Given the description of an element on the screen output the (x, y) to click on. 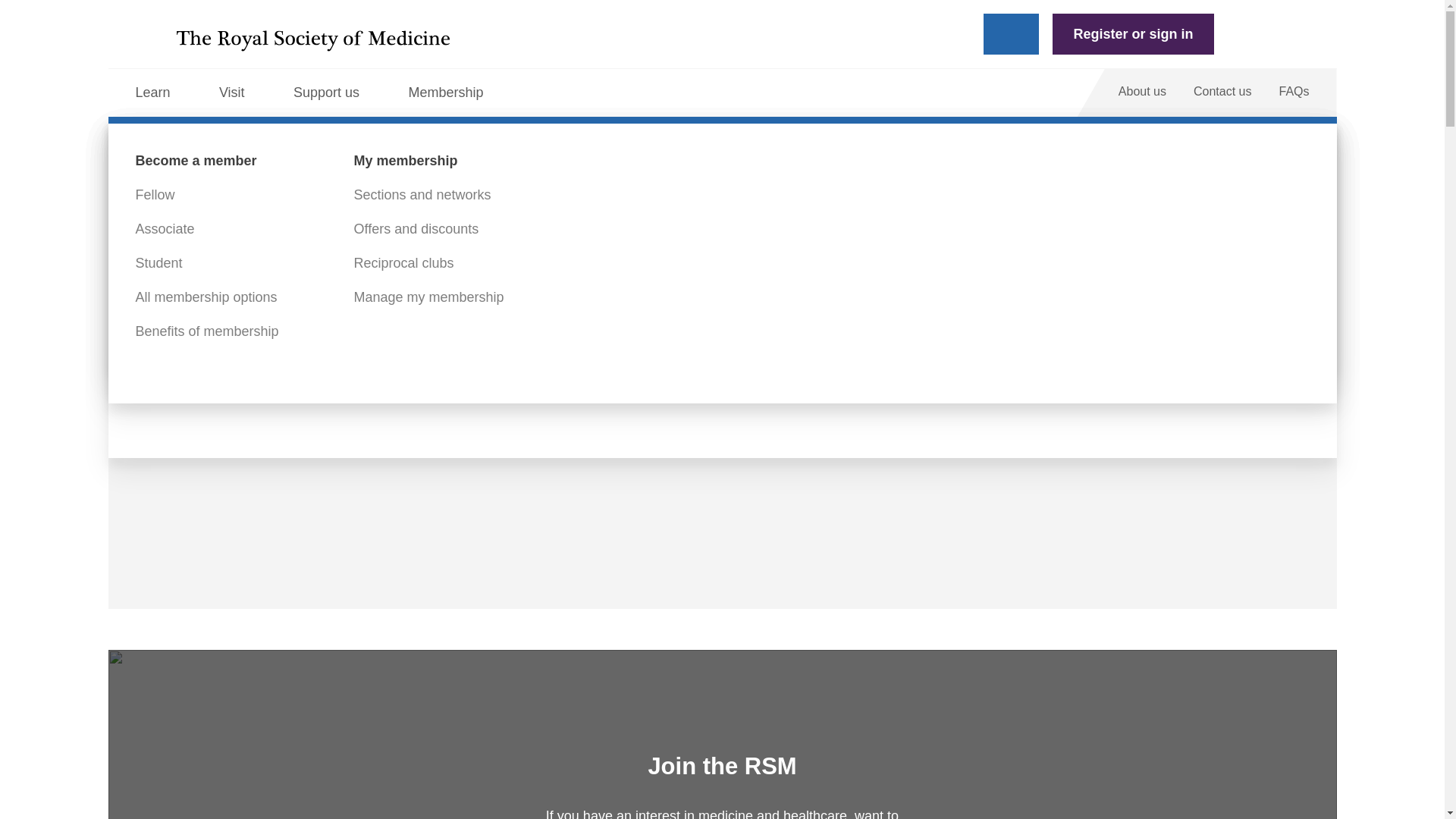
Event highlights (183, 195)
Access Library search hub (433, 263)
Literature search service (427, 331)
Register or sign in (1132, 33)
For students (609, 229)
Partner Symposium (194, 263)
Podcasts (817, 229)
Opening times (178, 229)
Information skills workshops and tutorials (879, 273)
Visit (242, 92)
Private dining (612, 263)
Support us (336, 92)
Library services (400, 195)
Videos (810, 195)
Shopping cart (1247, 33)
